Given the description of an element on the screen output the (x, y) to click on. 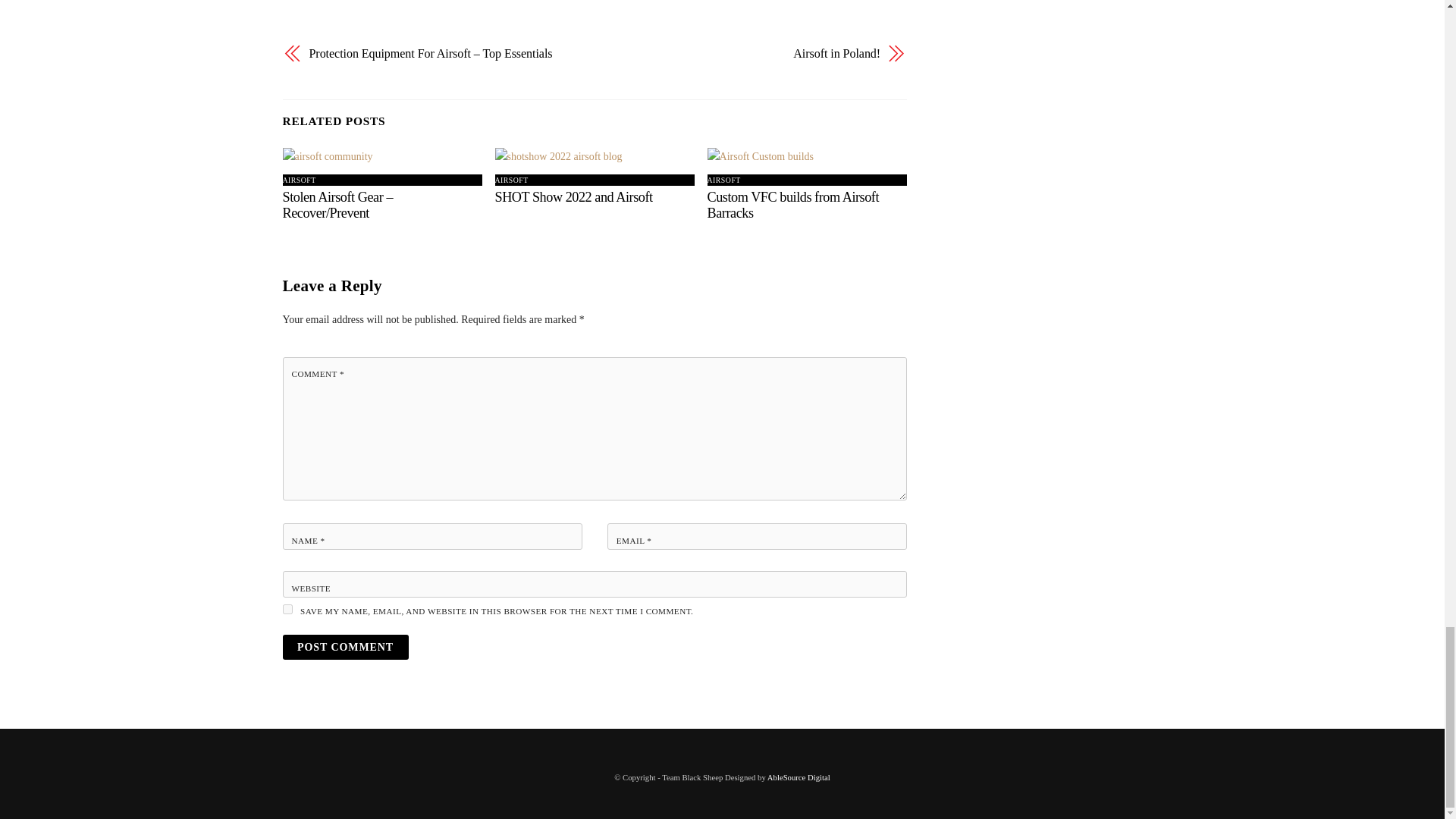
Post Comment (344, 647)
Custom VFC builds from Airsoft Barracks (793, 204)
Airsoft in Poland! (746, 53)
AIRSOFT (298, 180)
SHOT Show 2022 and Airsoft (573, 196)
yes (287, 609)
